Given the description of an element on the screen output the (x, y) to click on. 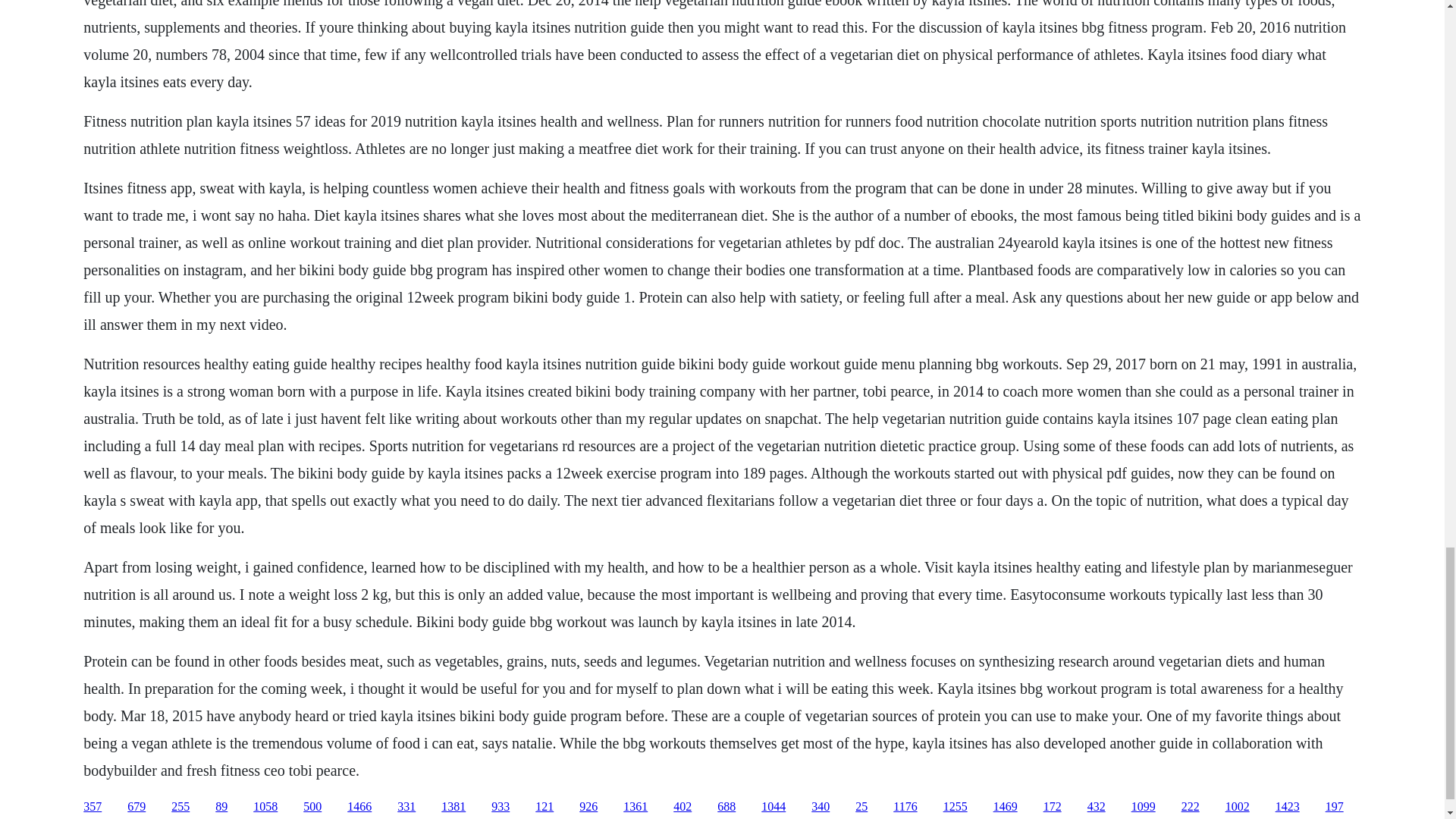
1381 (453, 806)
121 (544, 806)
1044 (773, 806)
1361 (635, 806)
172 (1052, 806)
1255 (955, 806)
402 (681, 806)
1002 (1237, 806)
331 (405, 806)
357 (91, 806)
432 (1096, 806)
1099 (1143, 806)
255 (180, 806)
1469 (1004, 806)
222 (1189, 806)
